Given the description of an element on the screen output the (x, y) to click on. 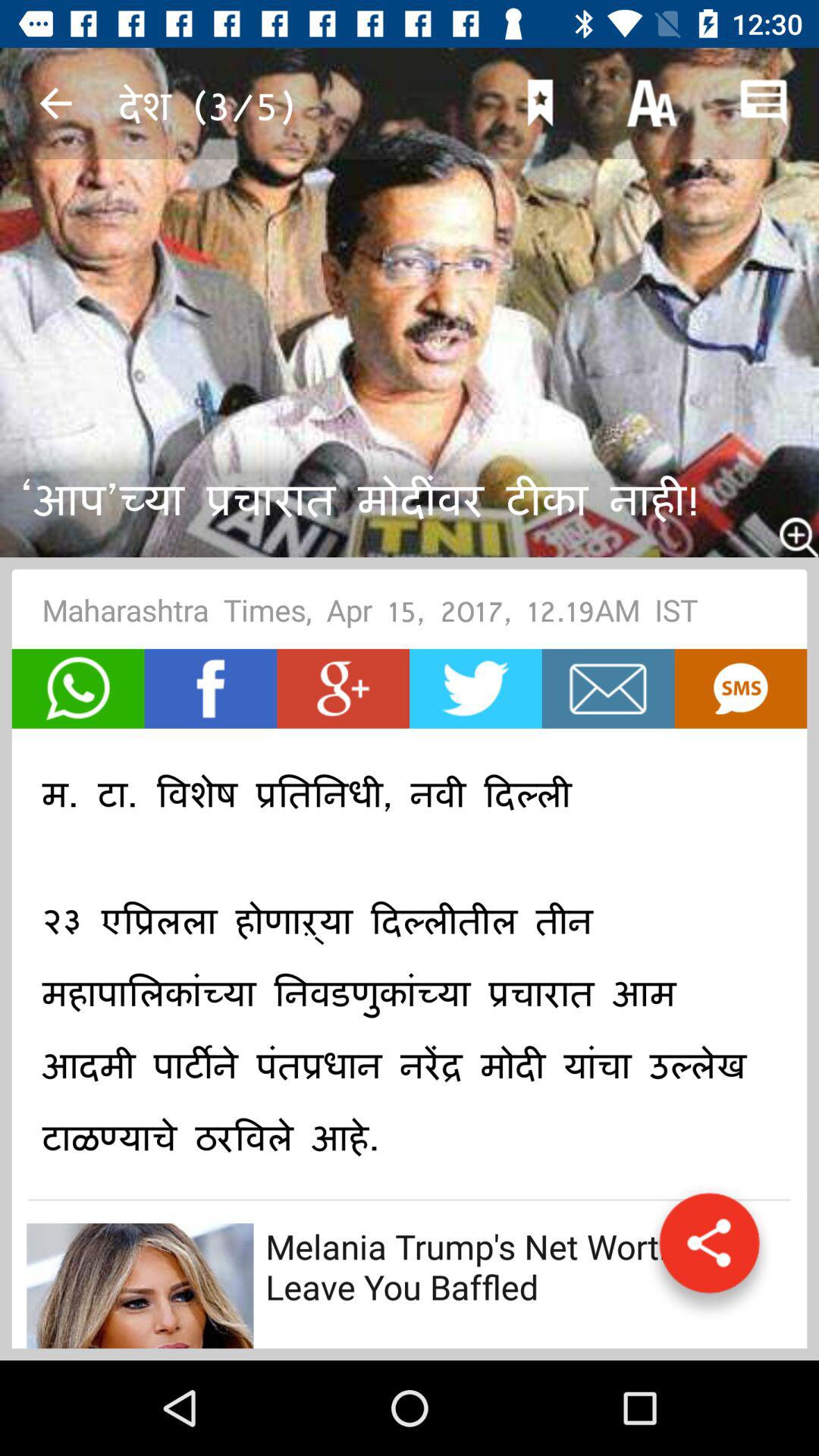
jump until maharashtra times apr icon (409, 614)
